Given the description of an element on the screen output the (x, y) to click on. 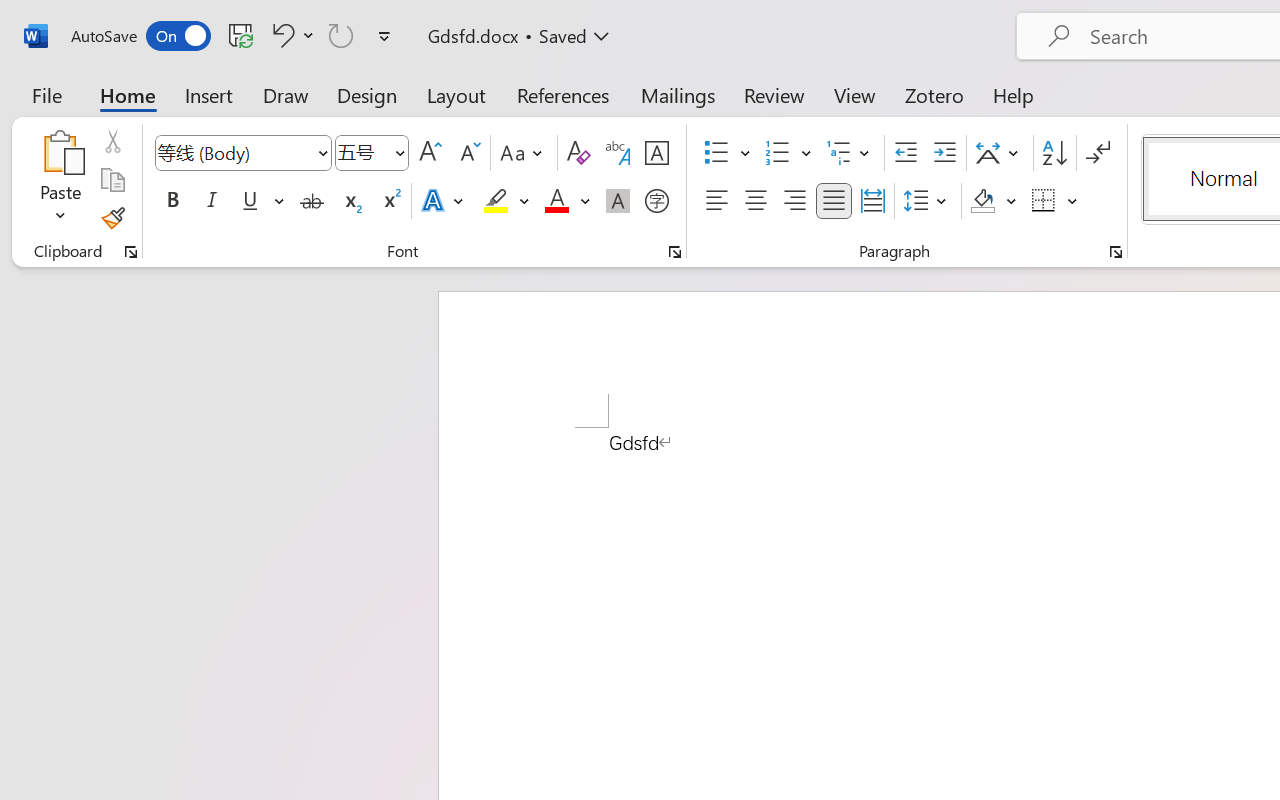
Show/Hide Editing Marks (1098, 153)
Font Color (567, 201)
Subscript (350, 201)
Text Highlight Color (506, 201)
Superscript (390, 201)
Undo AutoCorrect (280, 35)
Character Border (656, 153)
Shading (993, 201)
Bold (172, 201)
Asian Layout (1000, 153)
Align Left (716, 201)
